Given the description of an element on the screen output the (x, y) to click on. 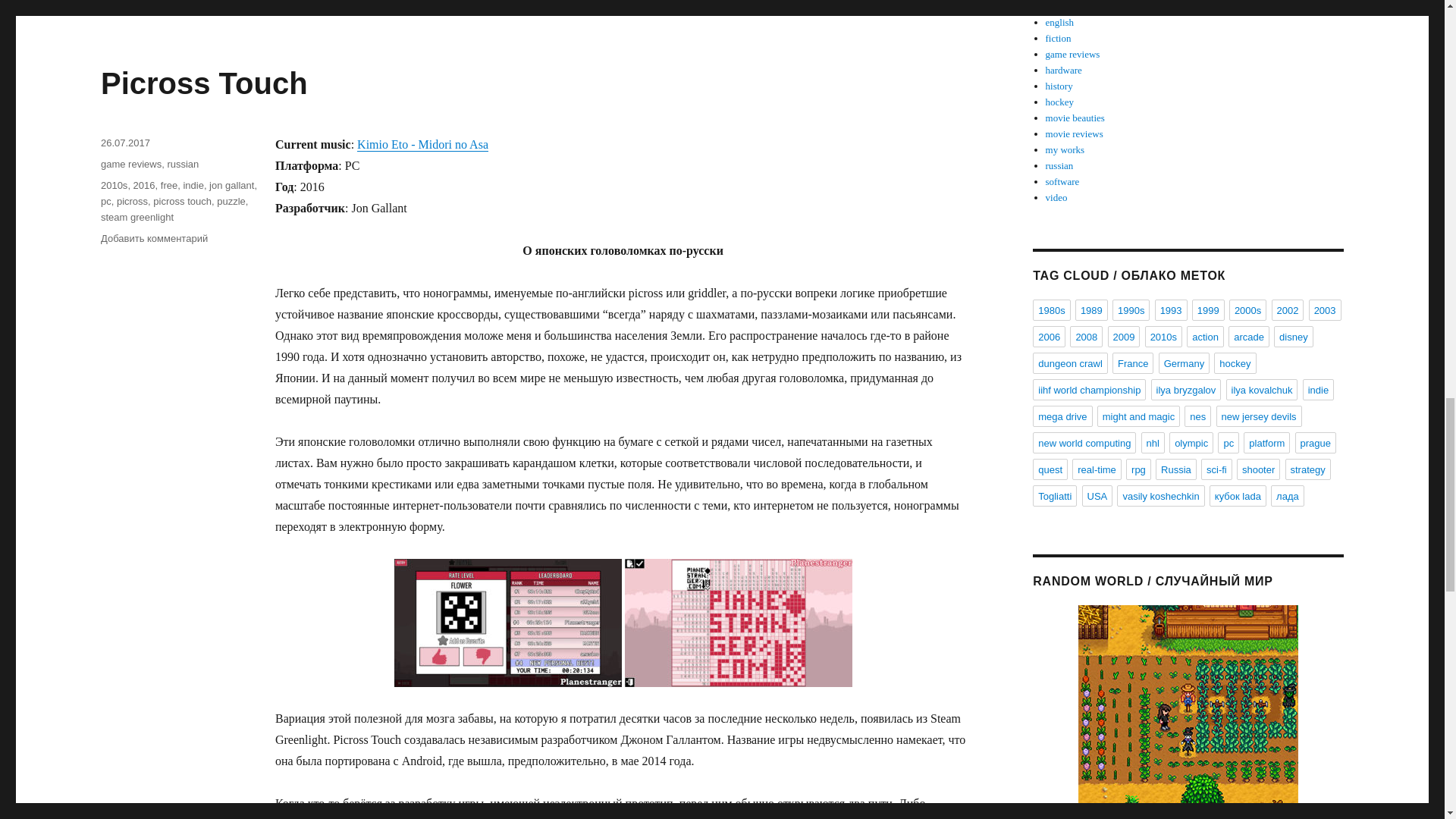
26.07.2017 (124, 142)
Kimio Eto - Midori no Asa (421, 144)
Picross Touch (203, 82)
